Given the description of an element on the screen output the (x, y) to click on. 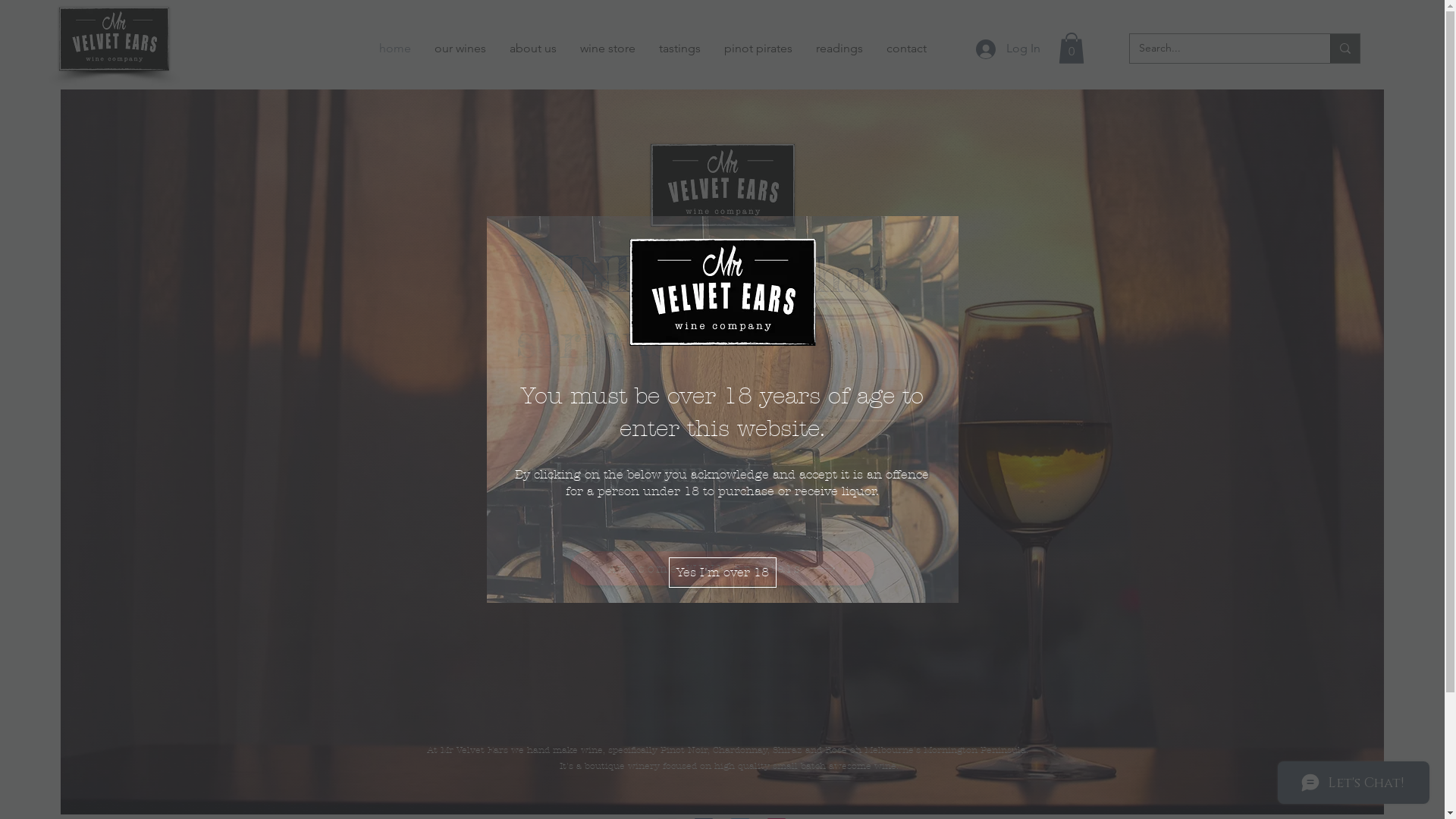
about us Element type: text (532, 48)
wine store Element type: text (607, 48)
Awesome WINE Specials Element type: text (722, 568)
home Element type: text (395, 48)
0 Element type: text (1071, 47)
our wines Element type: text (460, 48)
Log In Element type: text (1007, 48)
TWIPLA (Visitor Analytics) Element type: hover (1280, 533)
tastings Element type: text (679, 48)
readings Element type: text (838, 48)
pinot pirates Element type: text (758, 48)
contact Element type: text (906, 48)
